Given the description of an element on the screen output the (x, y) to click on. 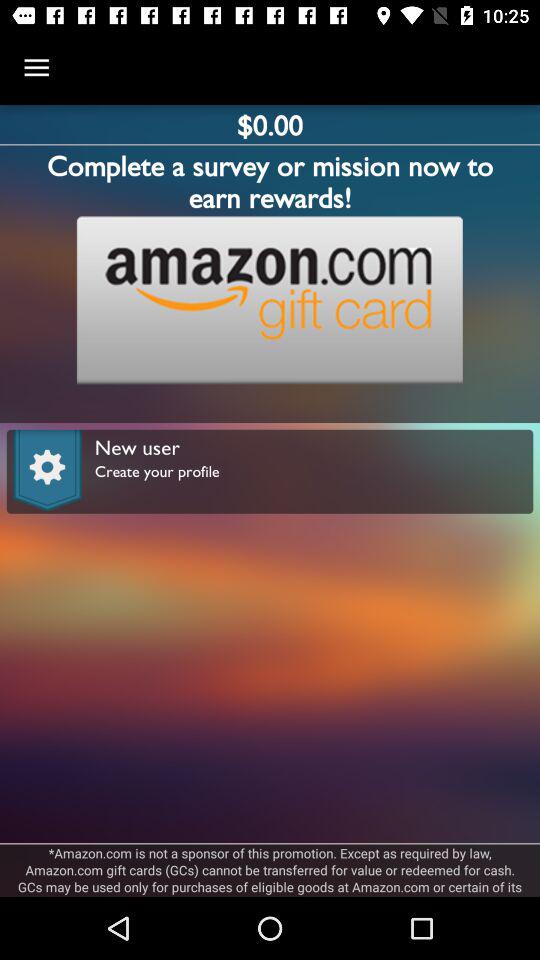
go to app (269, 300)
